Given the description of an element on the screen output the (x, y) to click on. 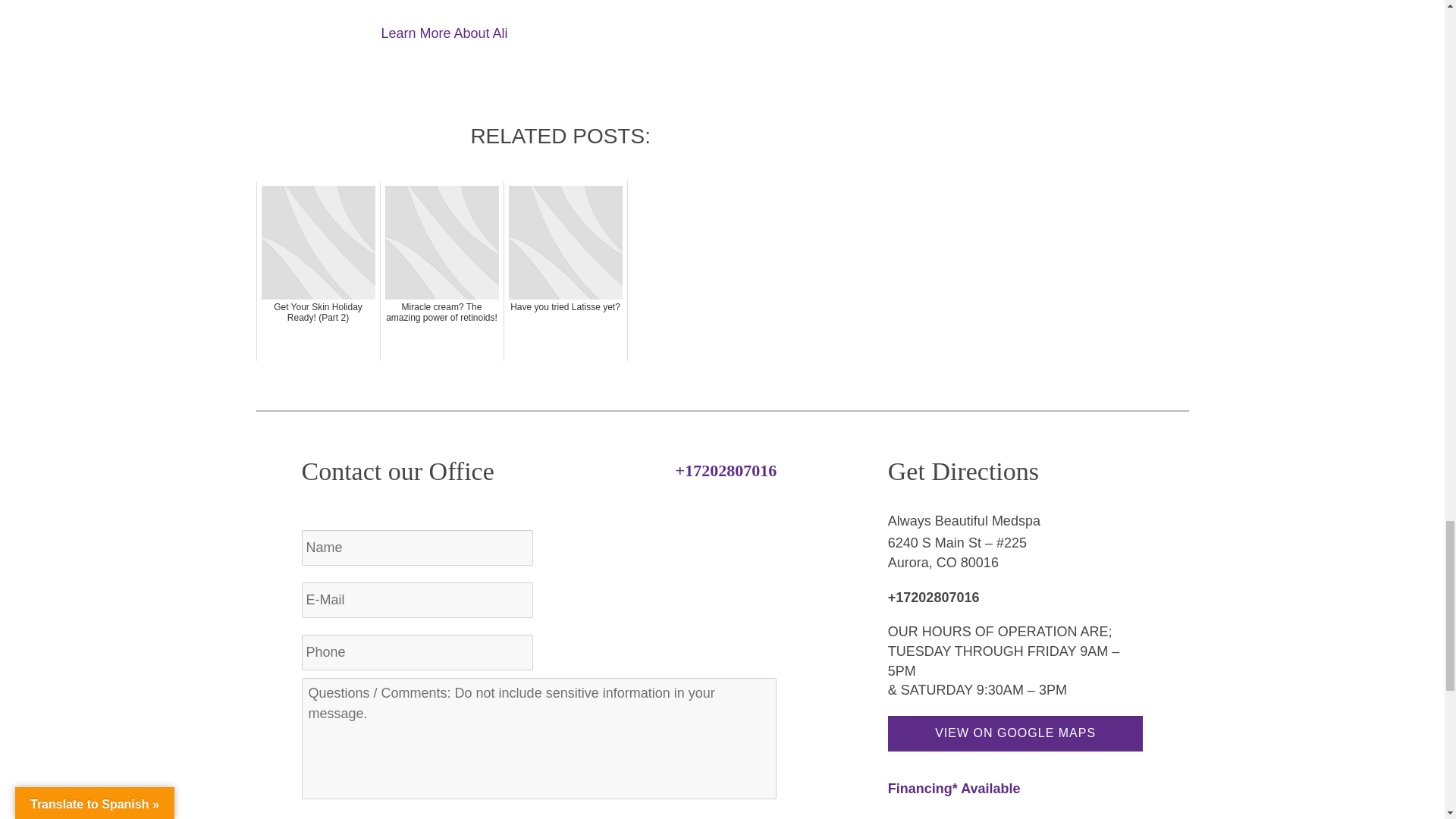
CareCredit (954, 788)
